Given the description of an element on the screen output the (x, y) to click on. 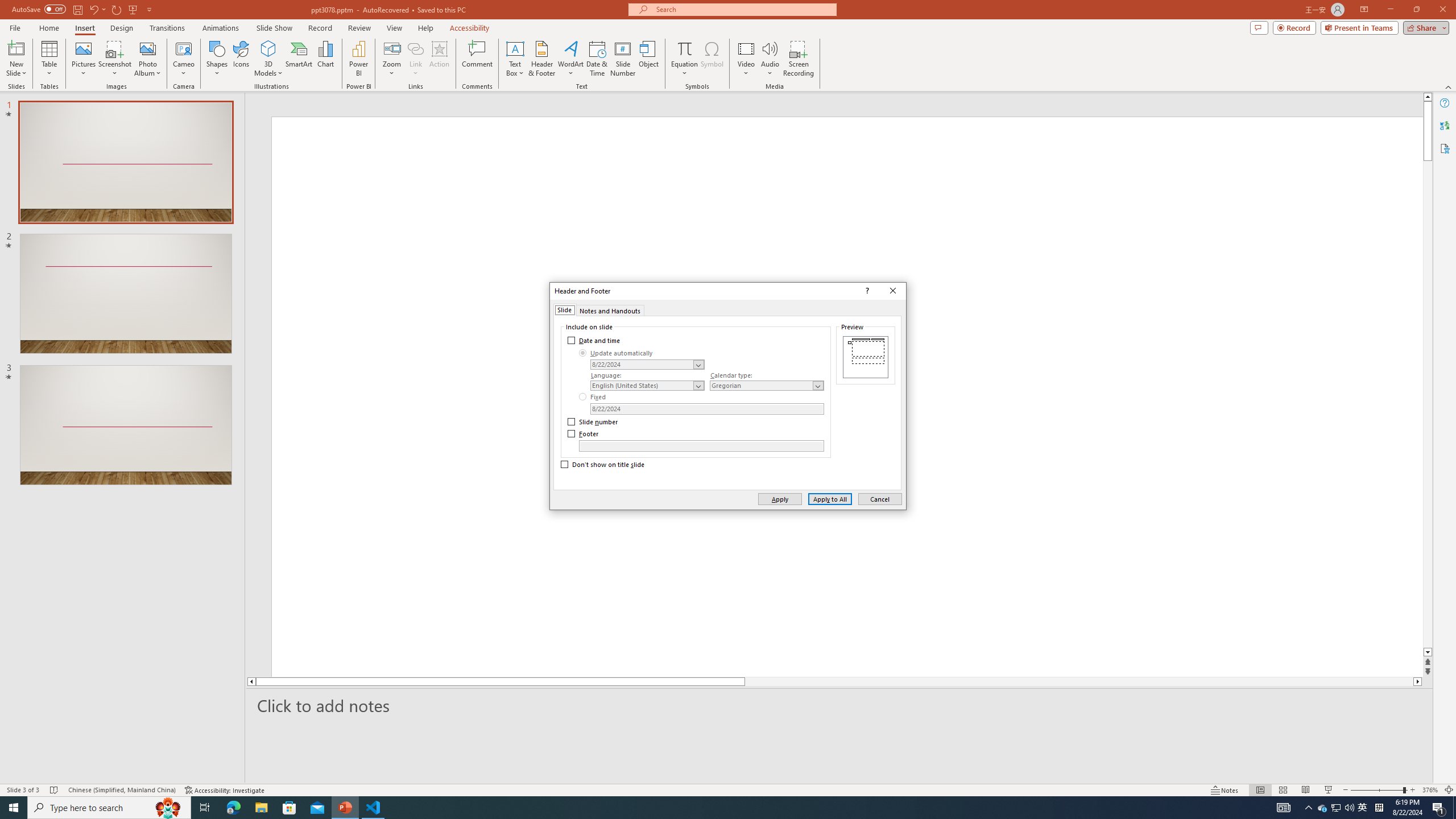
Draw Horizontal Text Box (515, 48)
Comment (476, 58)
Screenshot (114, 58)
Context help (866, 290)
